Given the description of an element on the screen output the (x, y) to click on. 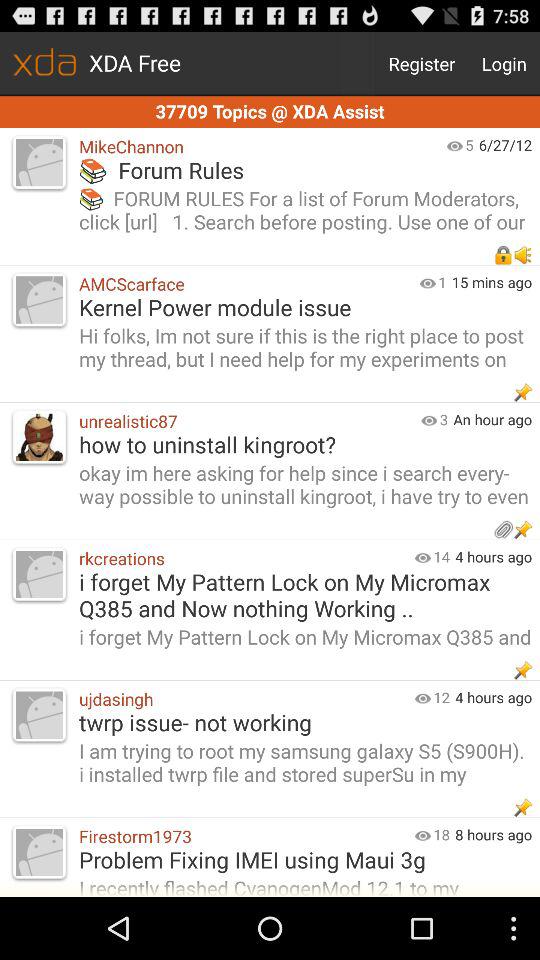
swipe to 15 mins ago (495, 282)
